Given the description of an element on the screen output the (x, y) to click on. 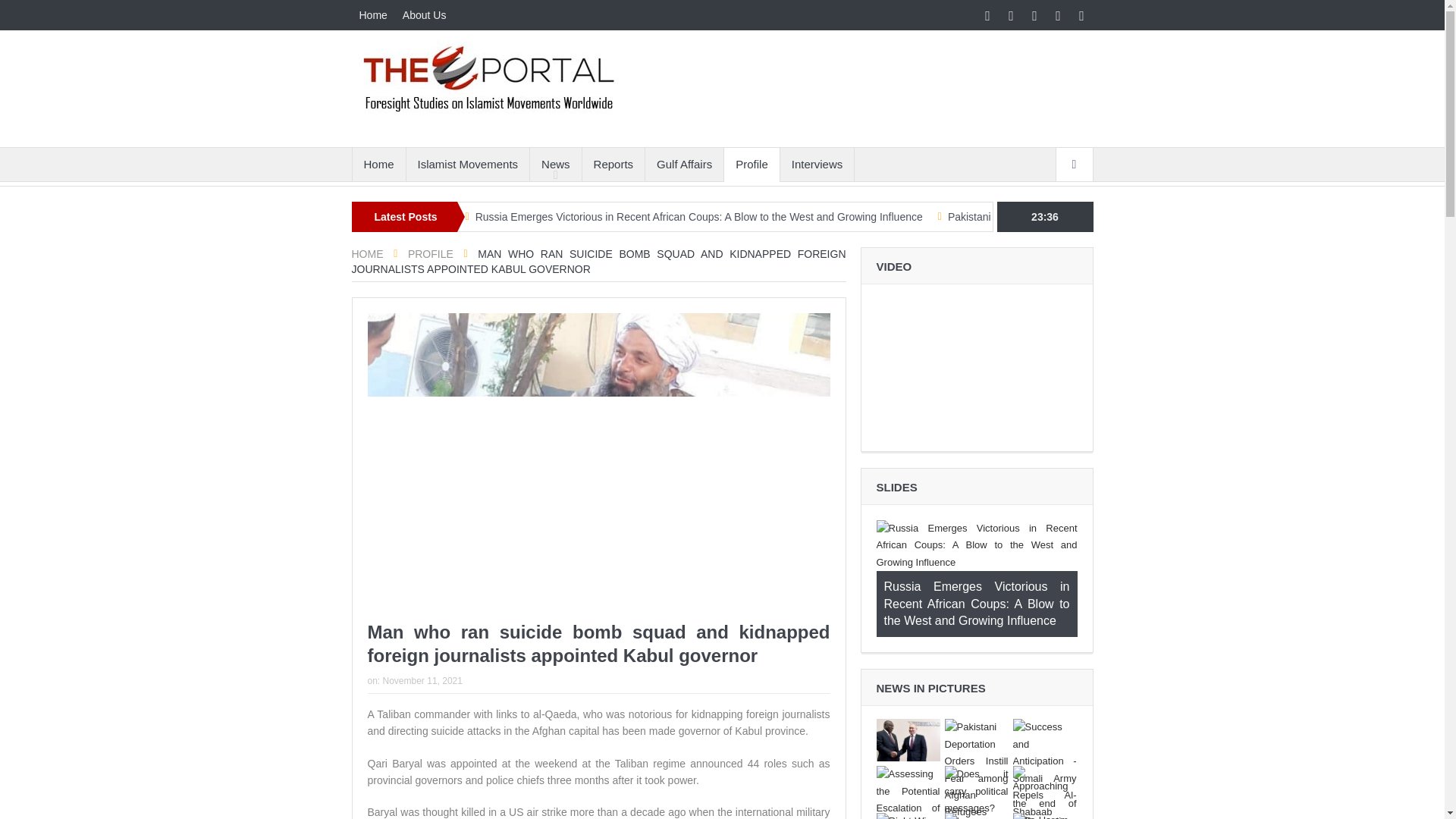
Reports (613, 164)
News (554, 164)
Interviews (817, 164)
Gulf Affairs (684, 164)
Home (378, 164)
Profile (750, 164)
About Us (424, 15)
Home (373, 15)
